Given the description of an element on the screen output the (x, y) to click on. 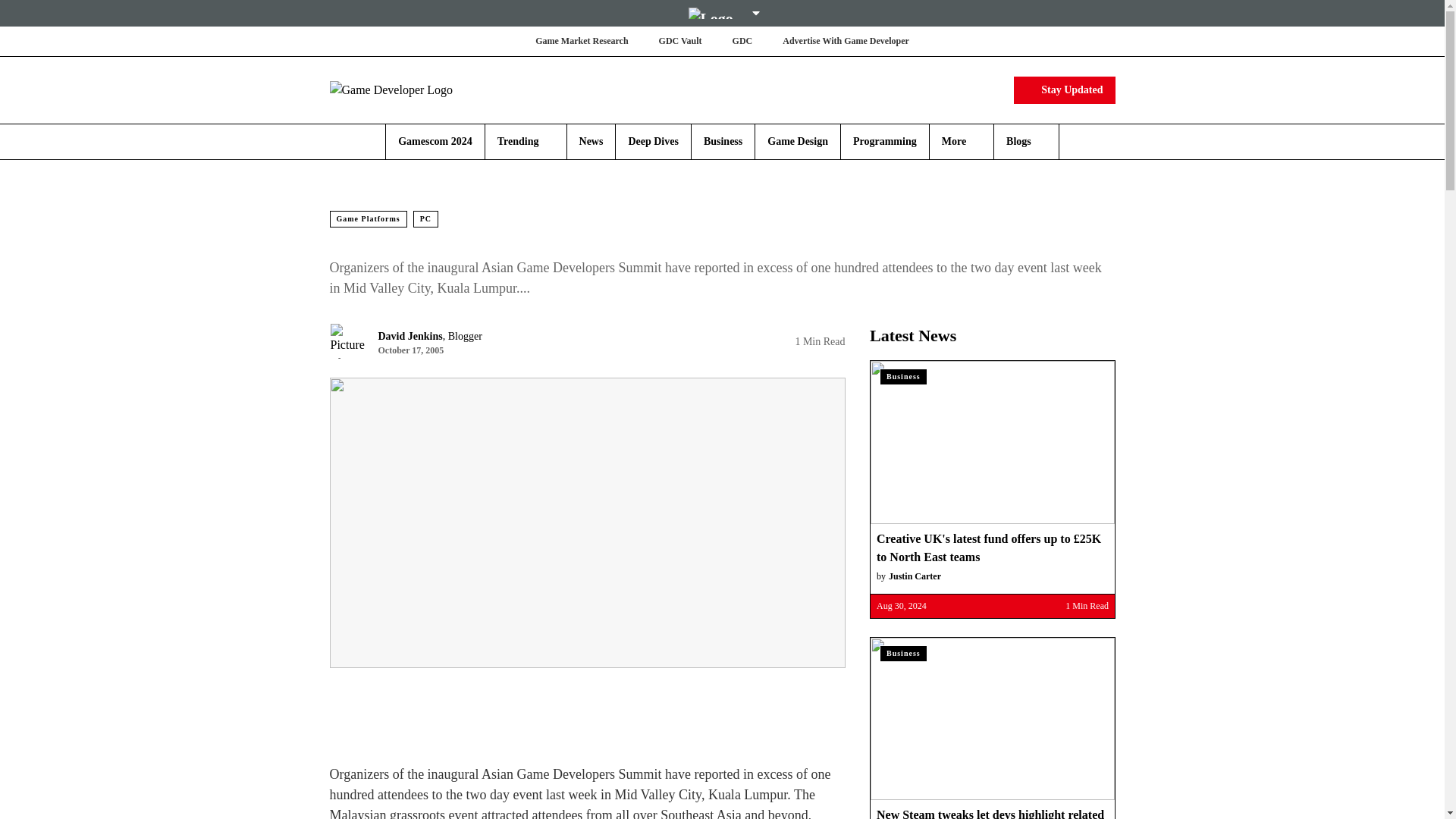
Programming (885, 141)
Game Developer Logo (419, 90)
News (591, 141)
Business (722, 141)
Deep Dives (652, 141)
GDC Vault (680, 41)
Gamescom 2024 (434, 141)
Game Market Research (581, 41)
Advertise With Game Developer (845, 41)
Stay Updated (1064, 89)
